Given the description of an element on the screen output the (x, y) to click on. 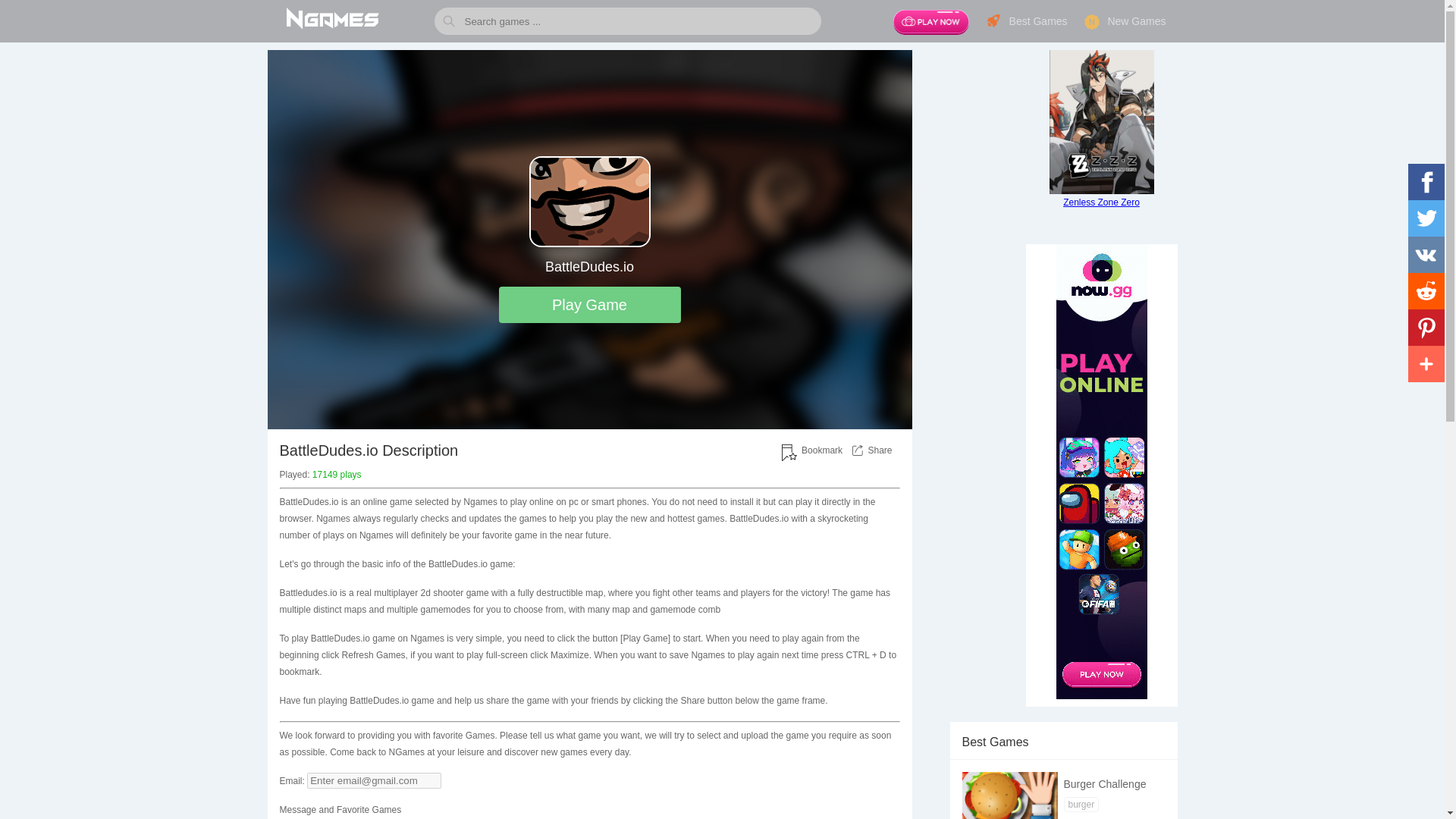
New Games (1124, 21)
Share (879, 450)
Play BattleDudes.io (590, 304)
Best Games (1025, 21)
Bookmark (822, 450)
Play Game (590, 304)
